Given the description of an element on the screen output the (x, y) to click on. 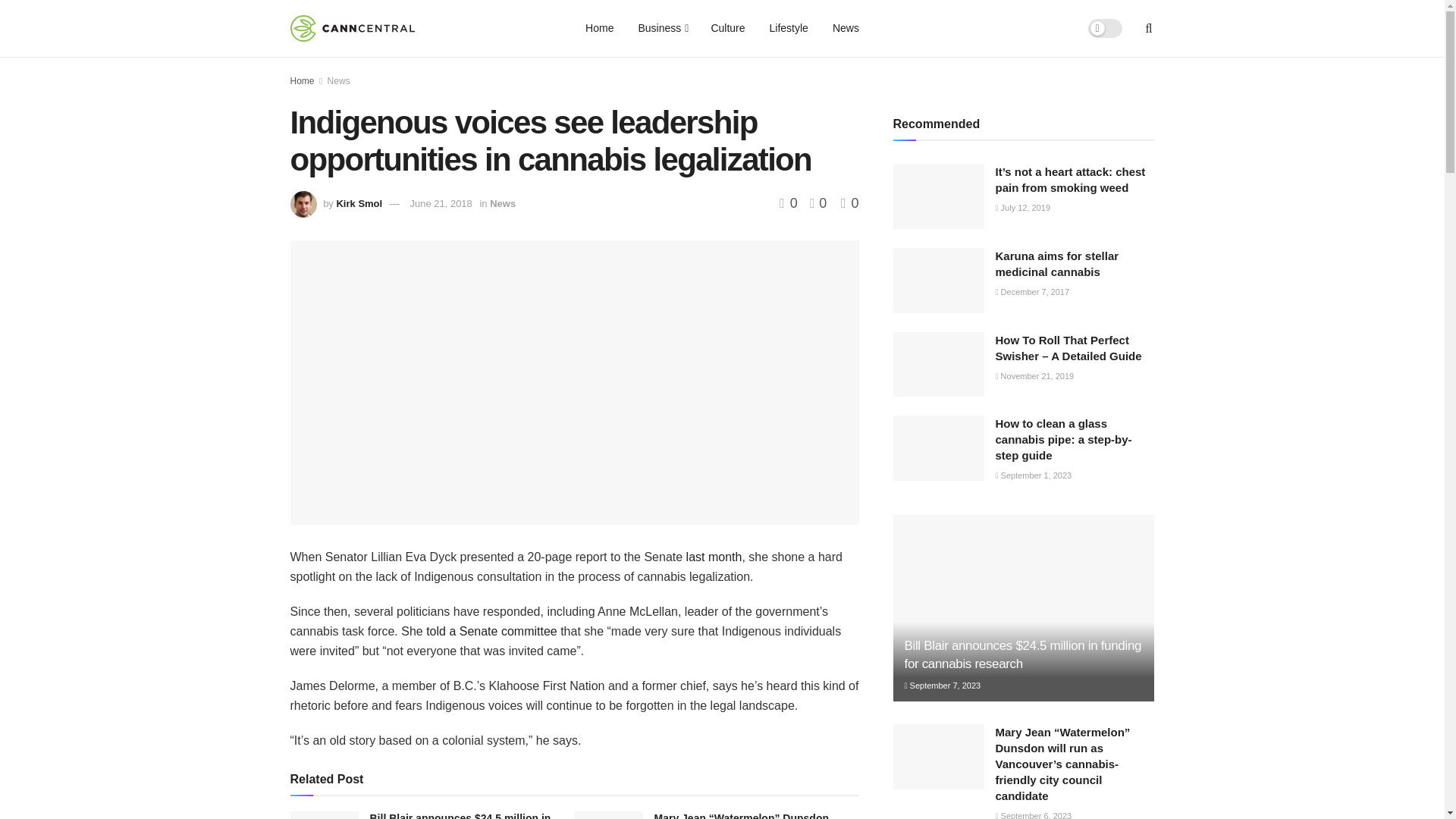
Culture (727, 28)
Business (662, 28)
News (338, 81)
June 21, 2018 (440, 203)
News (845, 28)
Home (301, 81)
Home (599, 28)
Kirk Smol (358, 203)
Lifestyle (789, 28)
